Given the description of an element on the screen output the (x, y) to click on. 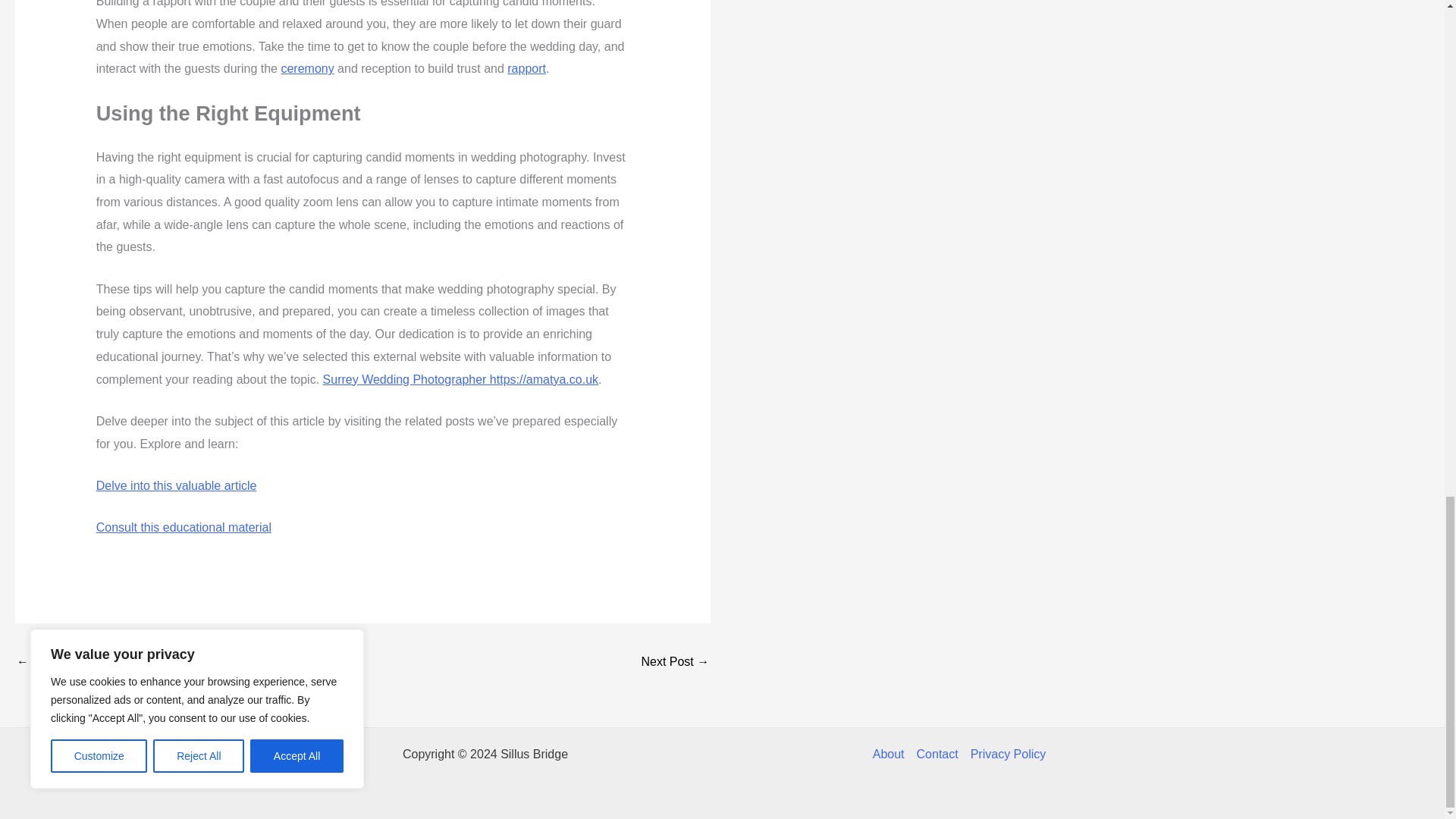
Optimizing Energy Solutions for Businesses (61, 663)
Consult this educational material (183, 526)
ceremony (307, 68)
rapport (526, 68)
Delve into this valuable article (176, 485)
The Importance of Regular Roof Maintenance (674, 663)
